Given the description of an element on the screen output the (x, y) to click on. 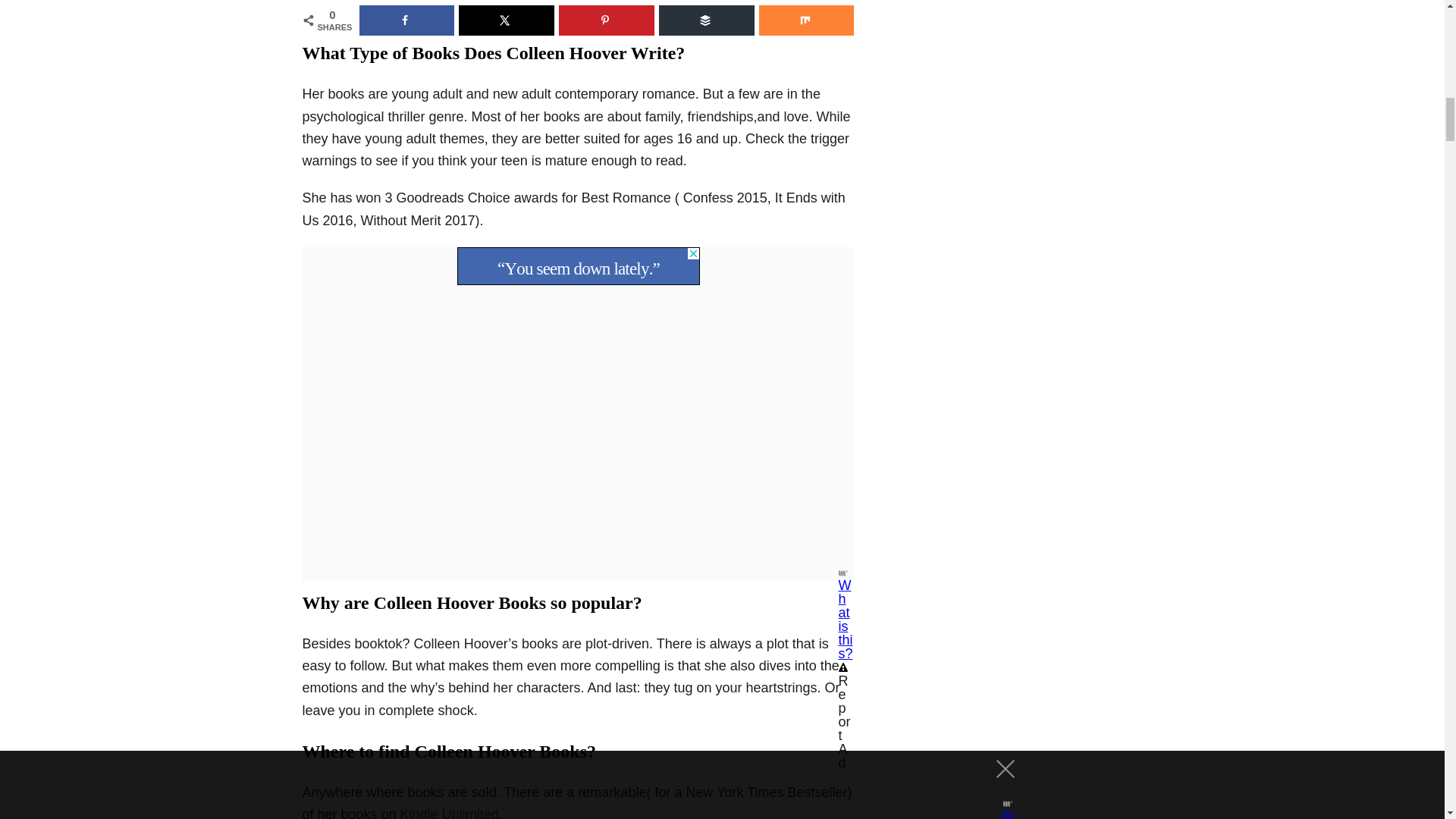
Kindle Unlimited (449, 812)
3rd party ad content (577, 266)
